Given the description of an element on the screen output the (x, y) to click on. 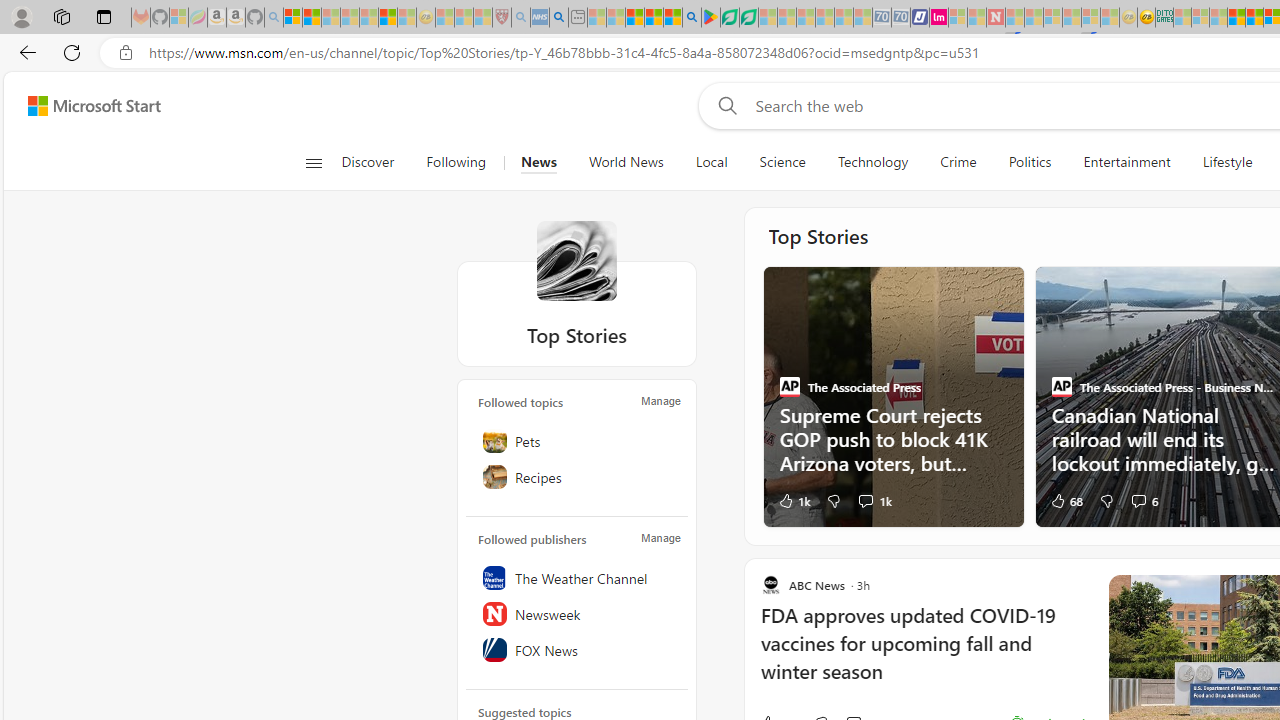
Pets (577, 440)
View comments 1k Comment (865, 500)
Top Stories (576, 260)
